Given the description of an element on the screen output the (x, y) to click on. 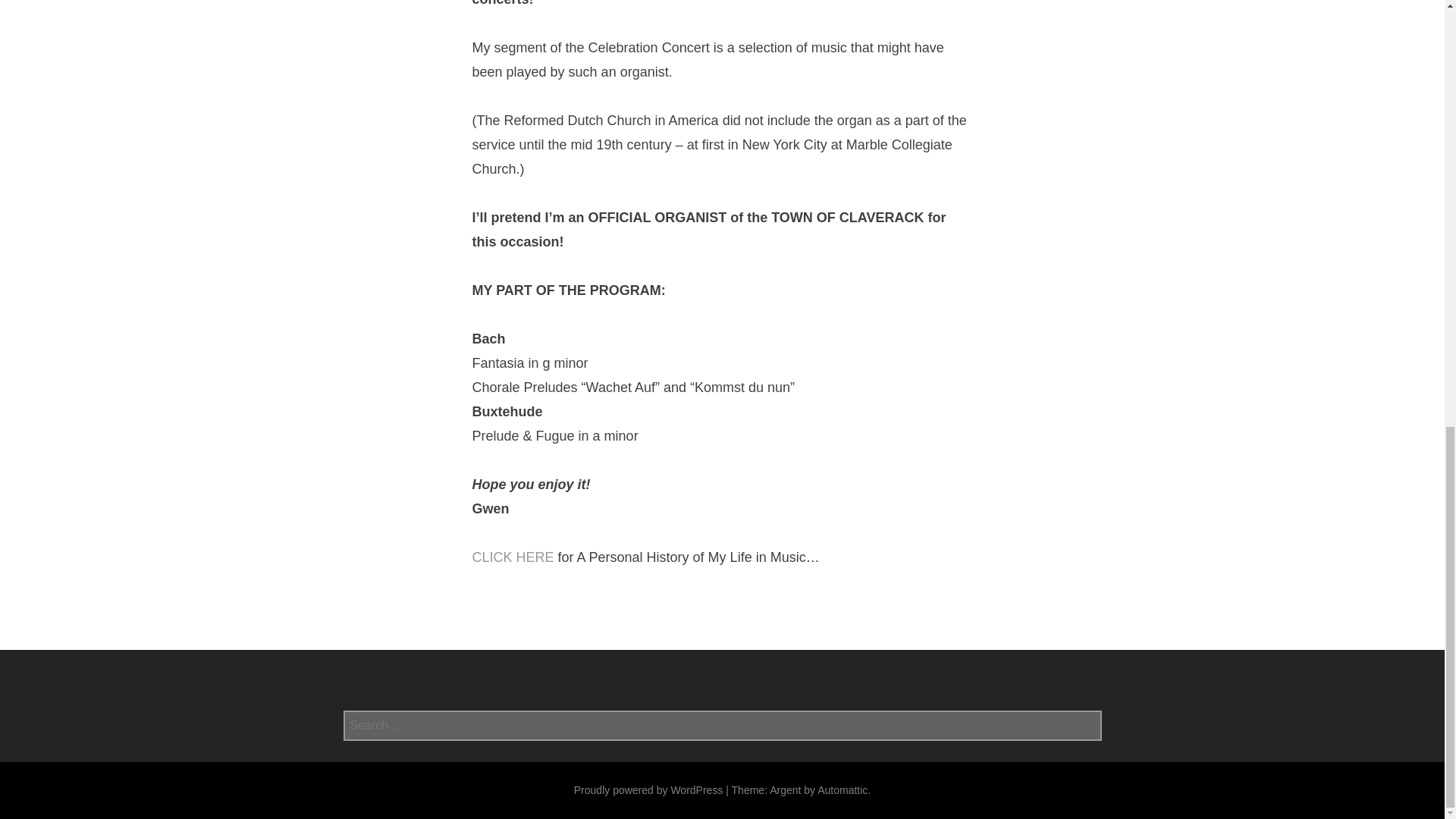
Proudly powered by WordPress (648, 789)
Automattic (841, 789)
CLICK HERE (512, 557)
